Given the description of an element on the screen output the (x, y) to click on. 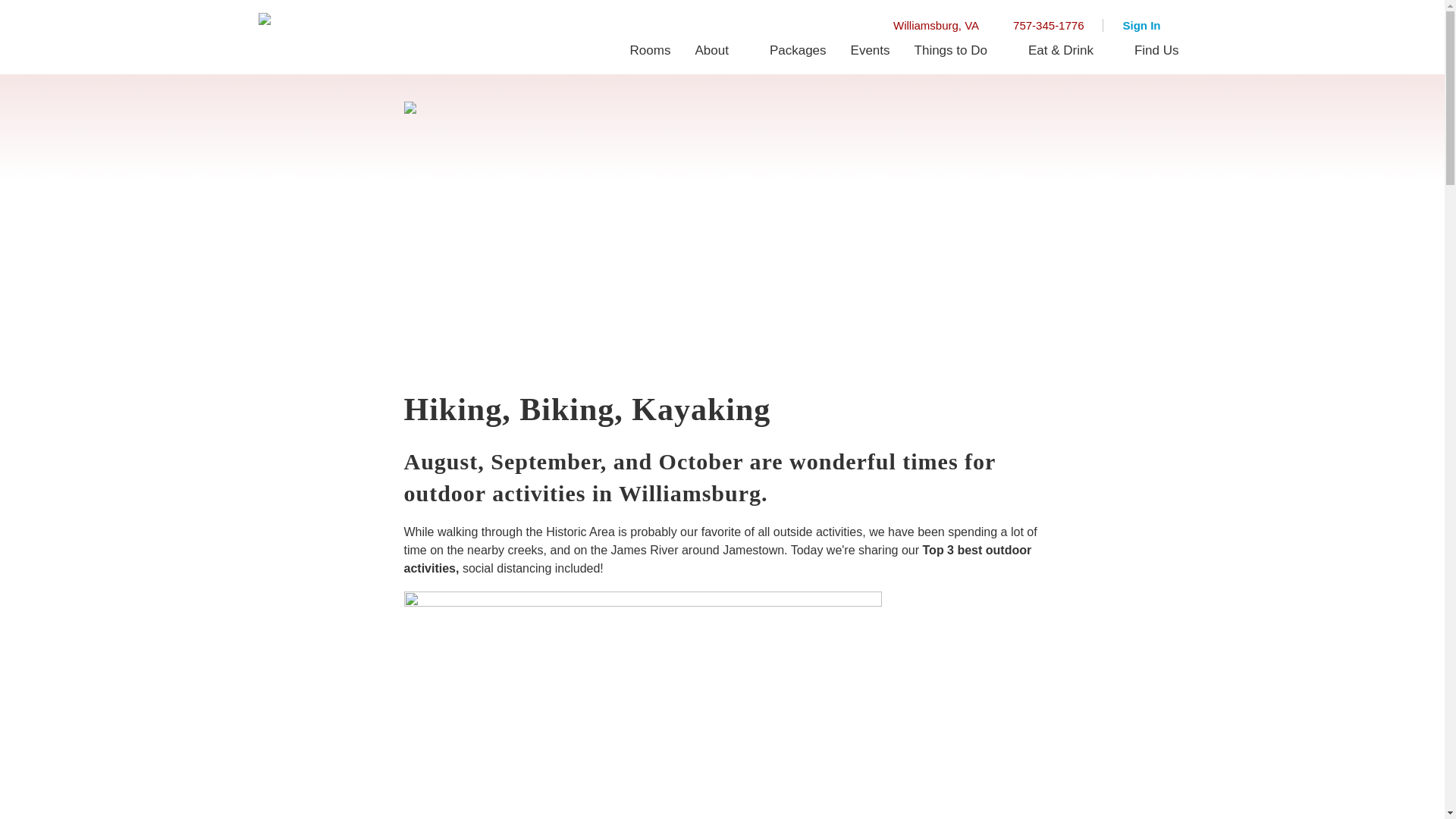
Williamsburg, VA (927, 24)
Things to Do (959, 50)
Packages (797, 50)
About (719, 50)
757-345-1776 (1040, 24)
Sign In (1150, 25)
Find Us (1156, 50)
Rooms (650, 50)
Events (870, 50)
